Given the description of an element on the screen output the (x, y) to click on. 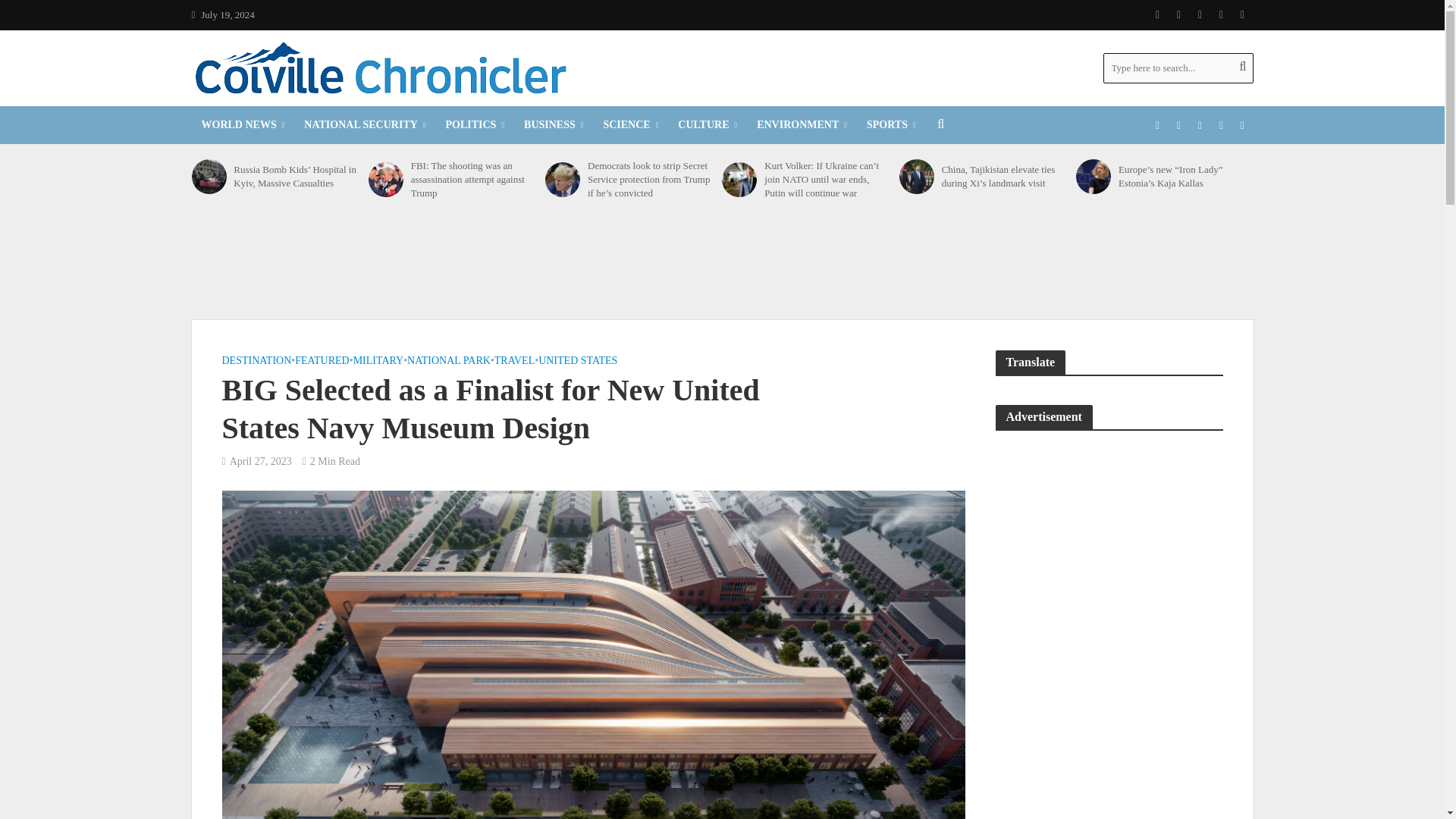
SCIENCE (630, 125)
POLITICS (474, 125)
NATIONAL SECURITY (364, 125)
Advertisement (721, 264)
CULTURE (707, 125)
WORLD NEWS (242, 125)
FBI: The shooting was an assassination attempt against Trump (385, 179)
BUSINESS (552, 125)
